Given the description of an element on the screen output the (x, y) to click on. 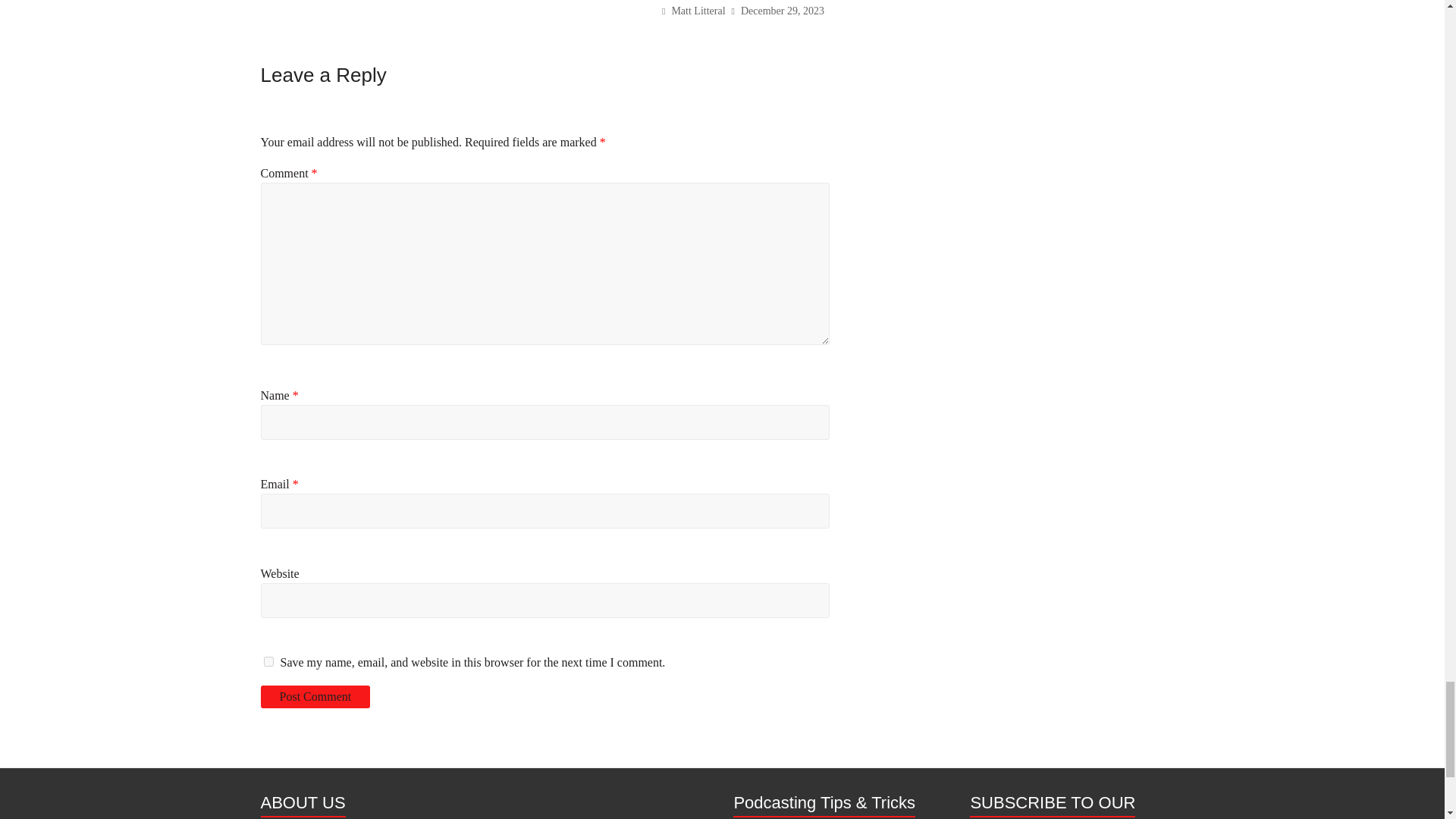
December 29, 2023 (782, 10)
Post Comment (315, 696)
Post Comment (315, 696)
Matt Litteral (698, 10)
yes (268, 661)
